Given the description of an element on the screen output the (x, y) to click on. 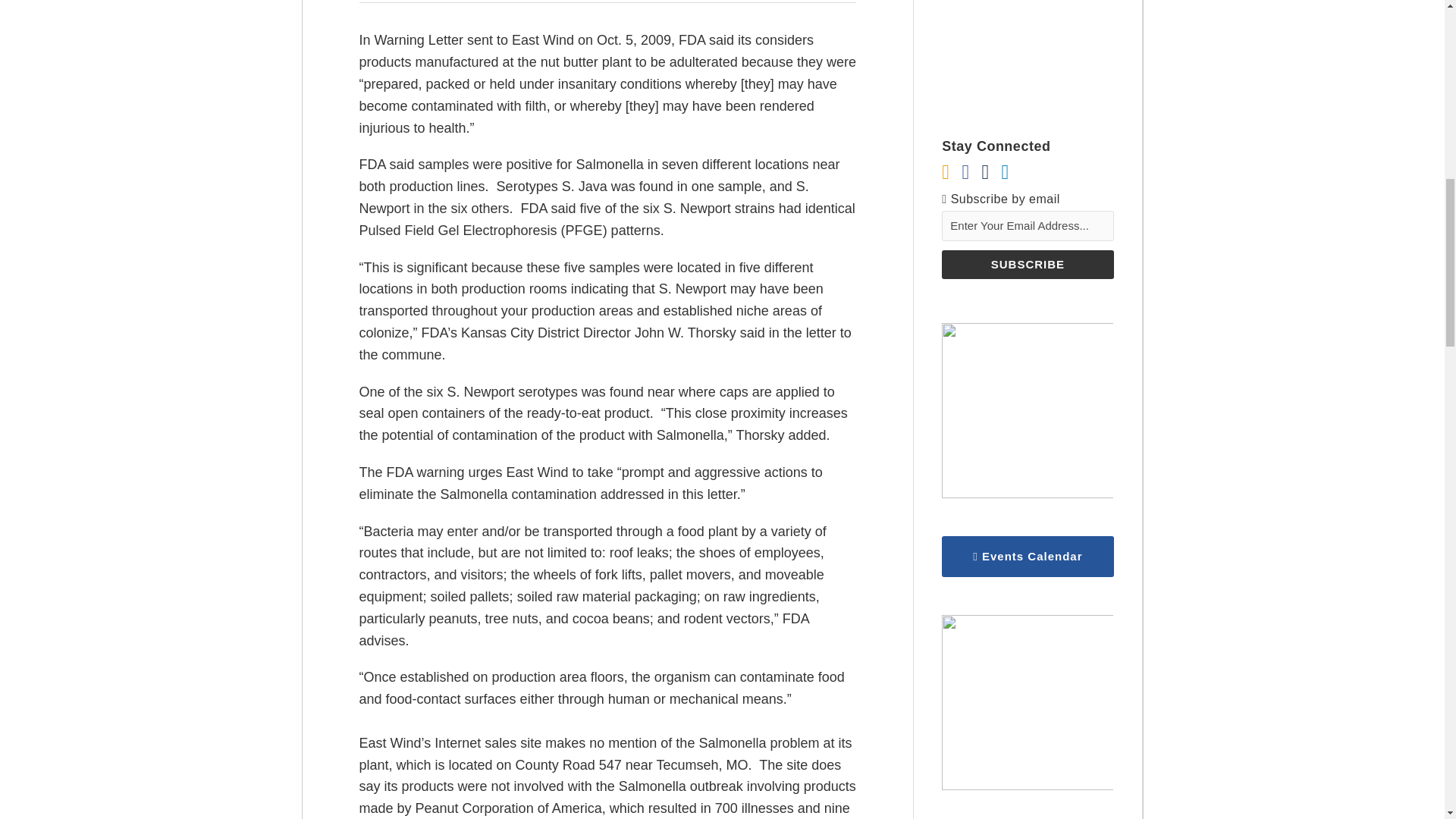
Events Calendar (1027, 556)
Subscribe (1027, 264)
Subscribe (1027, 264)
